Given the description of an element on the screen output the (x, y) to click on. 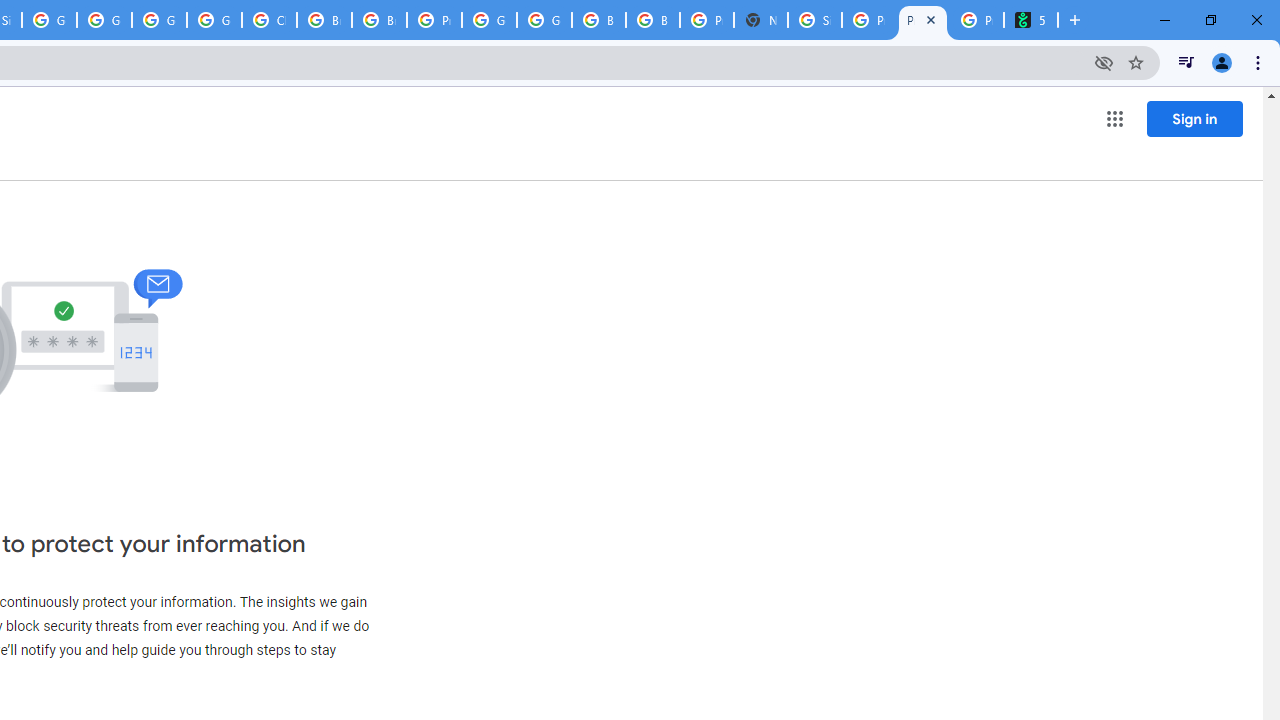
Google Cloud Platform (489, 20)
New Tab (760, 20)
Google Cloud Platform (158, 20)
